Given the description of an element on the screen output the (x, y) to click on. 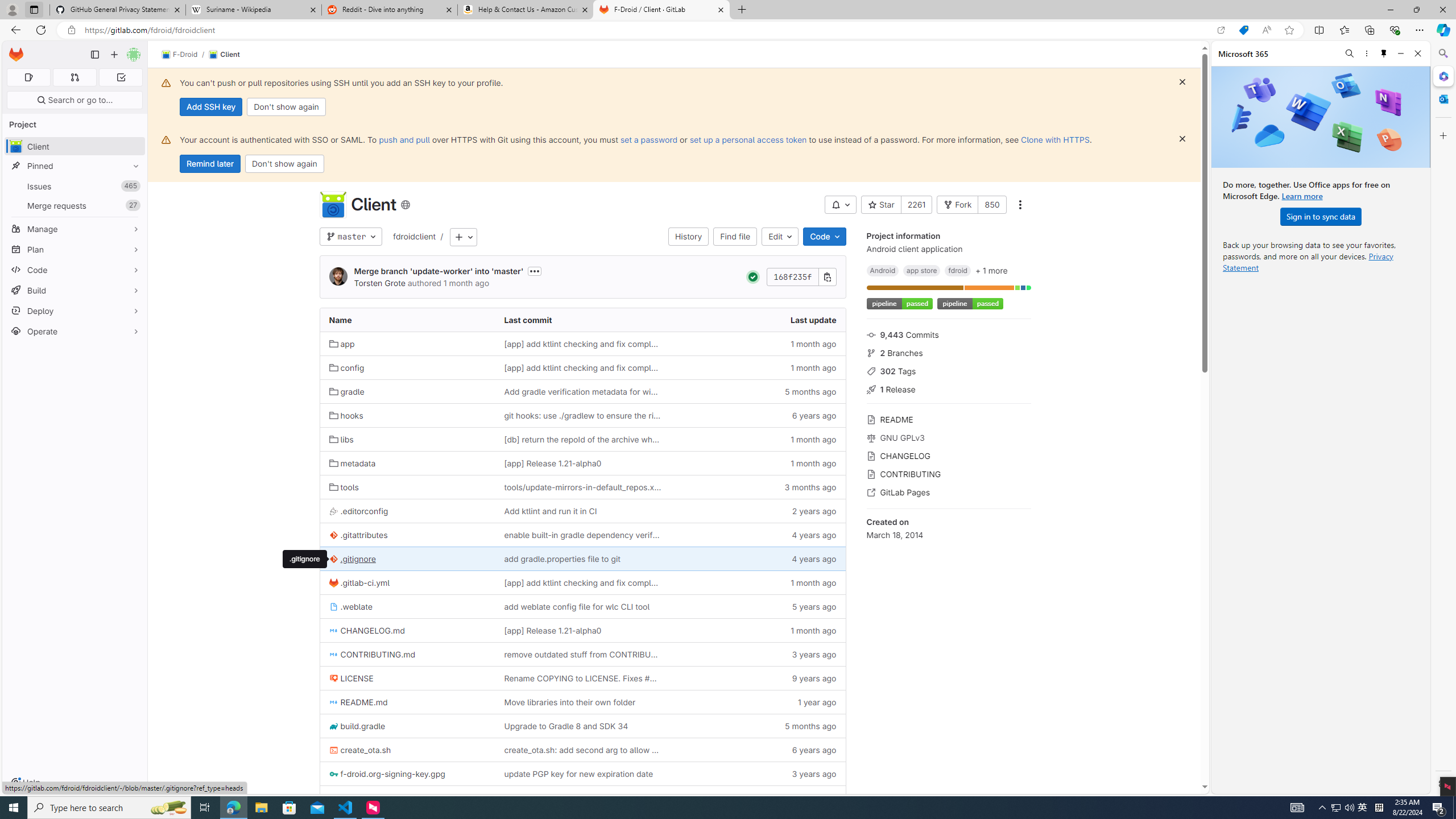
5 months ago (757, 725)
app (342, 343)
Name (407, 319)
Primary navigation sidebar (94, 54)
Class: s16 gl-icon gl-button-icon  (1181, 138)
6 years ago (757, 749)
Add gradle verification metadata for windows (582, 391)
Upgrade to Gradle 8 and SDK 34 (565, 725)
avatar Client (74, 145)
Homepage (16, 54)
Merge requests 0 (74, 76)
Add SSH key (211, 106)
AutomationID: __BVID__332__BV_toggle_ (840, 204)
